Given the description of an element on the screen output the (x, y) to click on. 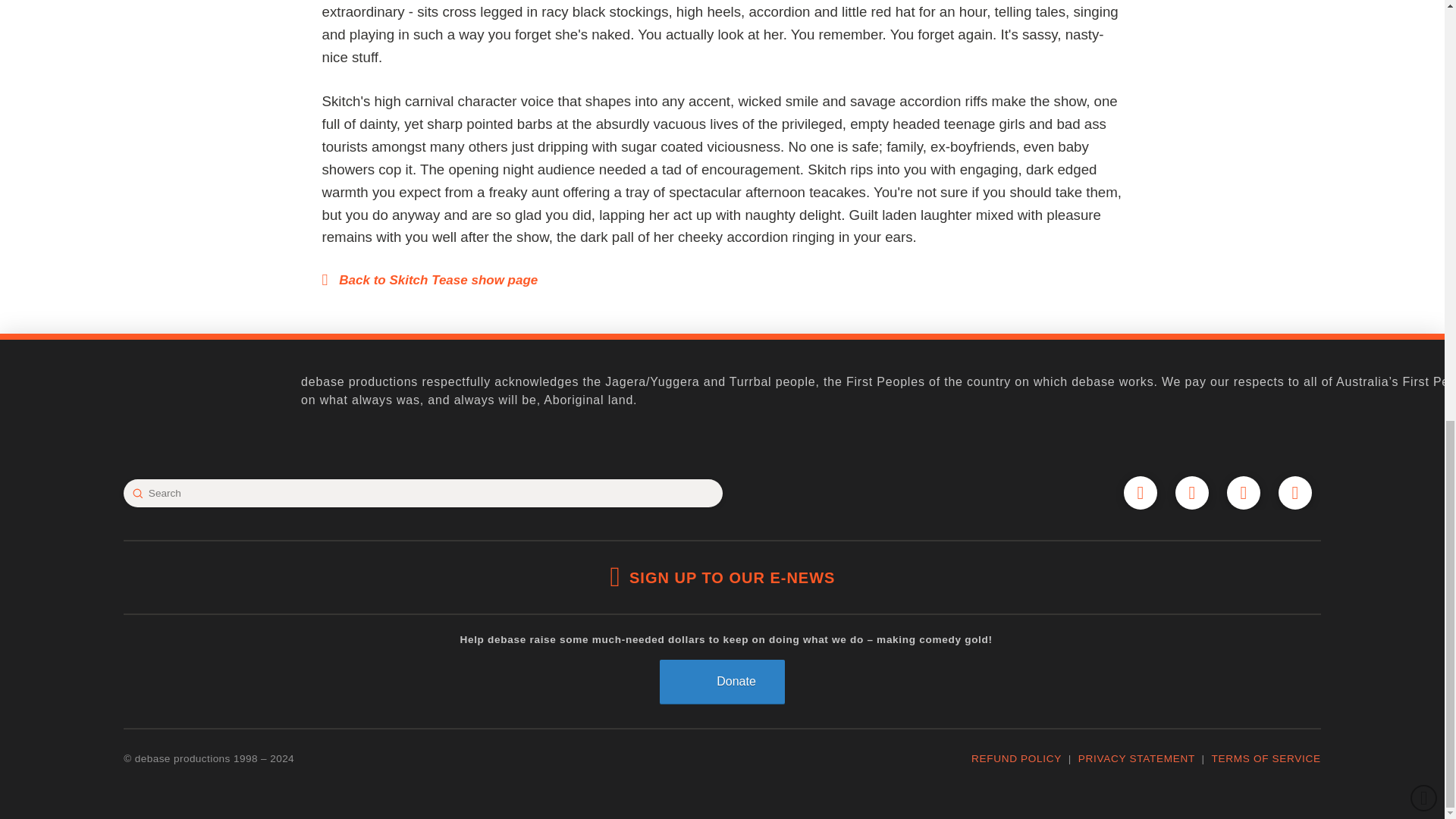
Back to Skitch Tease show page (429, 279)
